Given the description of an element on the screen output the (x, y) to click on. 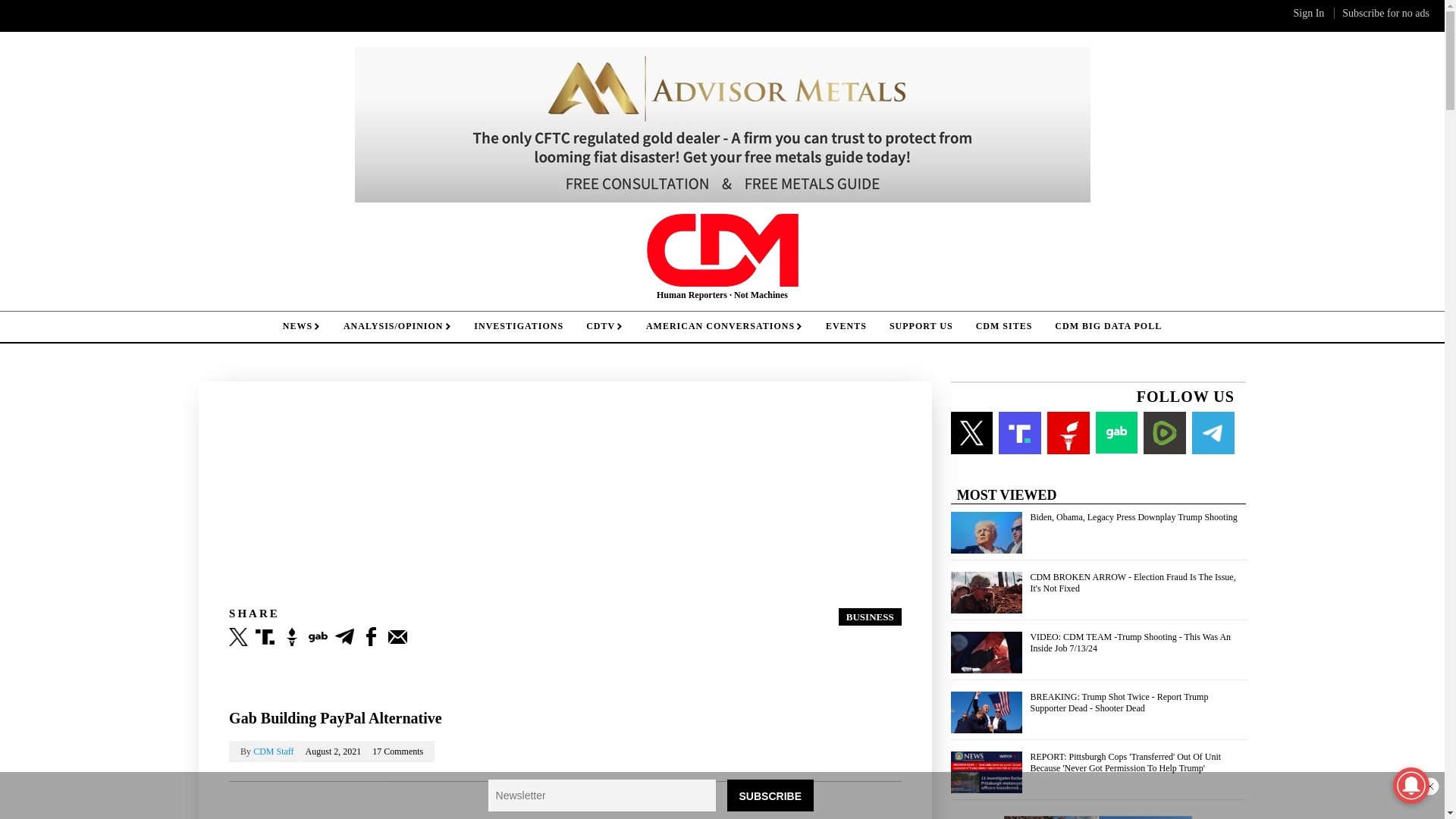
CDTV (604, 326)
INVESTIGATIONS (519, 326)
NEWS (300, 326)
SUBSCRIBE (769, 795)
AMERICAN CONVERSATIONS (723, 326)
